Given the description of an element on the screen output the (x, y) to click on. 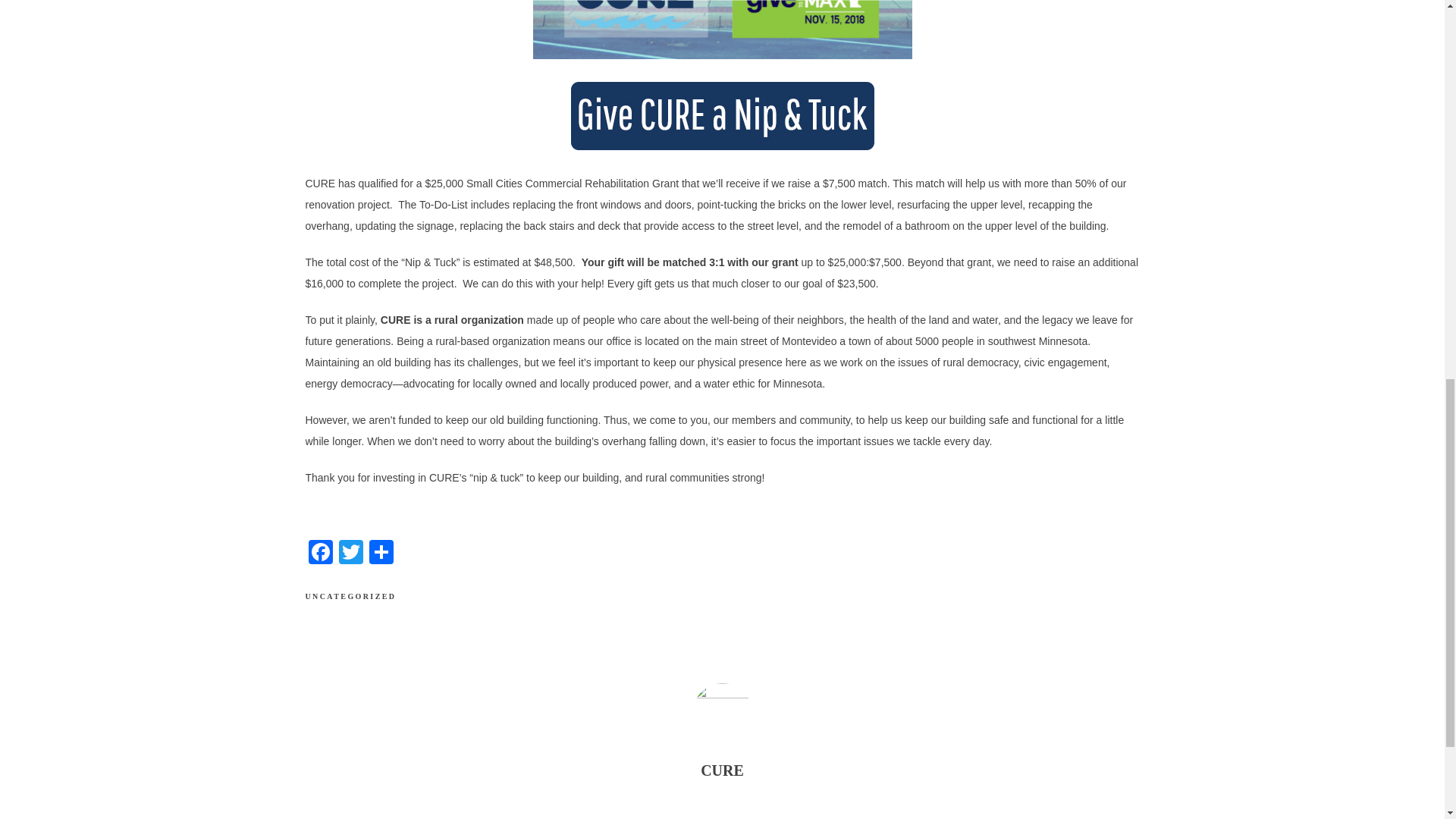
Twitter (349, 553)
Facebook (319, 553)
